Given the description of an element on the screen output the (x, y) to click on. 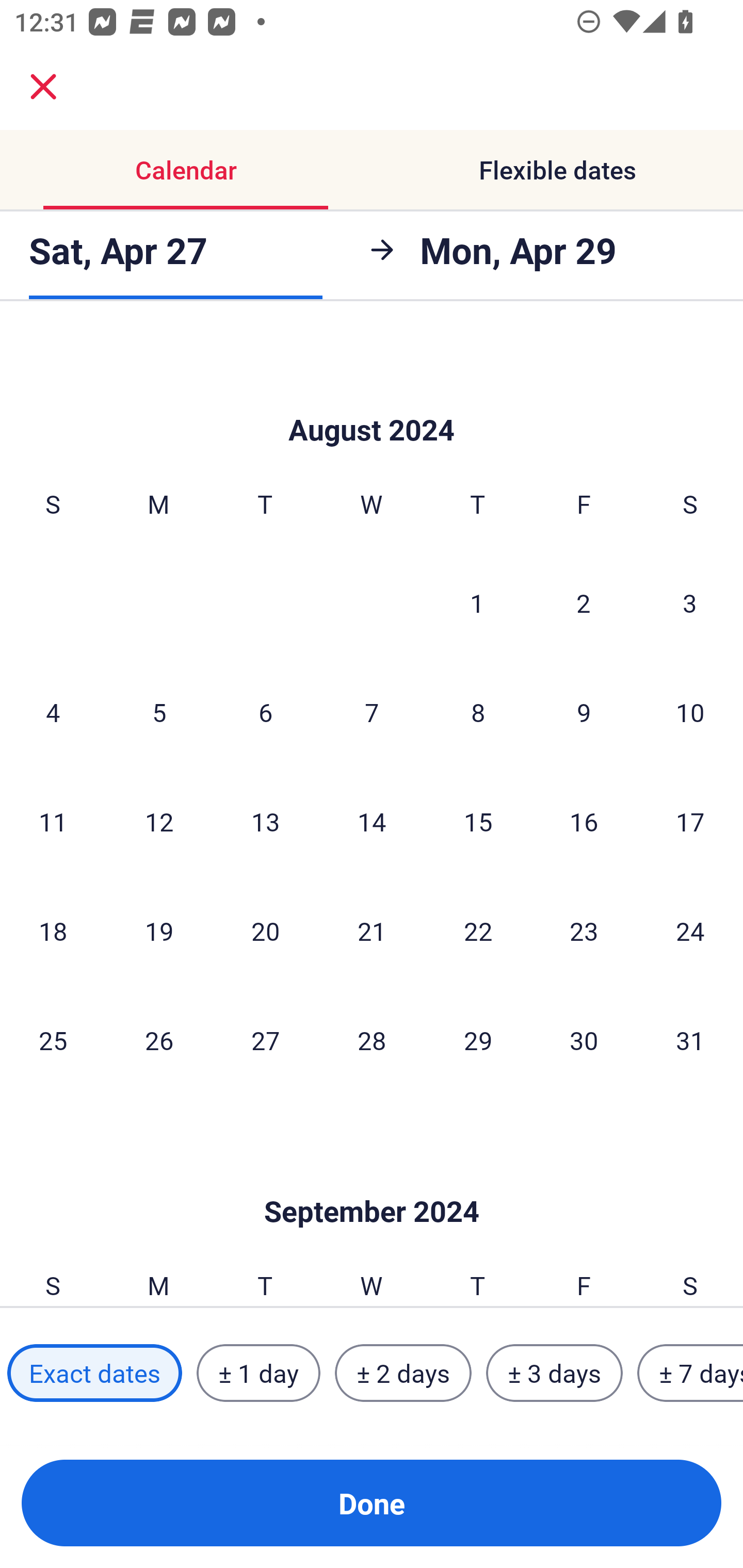
close. (43, 86)
Flexible dates (557, 170)
Skip to Done (371, 398)
1 Thursday, August 1, 2024 (477, 602)
2 Friday, August 2, 2024 (583, 602)
3 Saturday, August 3, 2024 (689, 602)
4 Sunday, August 4, 2024 (53, 711)
5 Monday, August 5, 2024 (159, 711)
6 Tuesday, August 6, 2024 (265, 711)
7 Wednesday, August 7, 2024 (371, 711)
8 Thursday, August 8, 2024 (477, 711)
9 Friday, August 9, 2024 (584, 711)
10 Saturday, August 10, 2024 (690, 711)
11 Sunday, August 11, 2024 (53, 821)
12 Monday, August 12, 2024 (159, 821)
13 Tuesday, August 13, 2024 (265, 821)
14 Wednesday, August 14, 2024 (371, 821)
15 Thursday, August 15, 2024 (477, 821)
16 Friday, August 16, 2024 (584, 821)
17 Saturday, August 17, 2024 (690, 821)
18 Sunday, August 18, 2024 (53, 930)
19 Monday, August 19, 2024 (159, 930)
20 Tuesday, August 20, 2024 (265, 930)
21 Wednesday, August 21, 2024 (371, 930)
22 Thursday, August 22, 2024 (477, 930)
23 Friday, August 23, 2024 (584, 930)
24 Saturday, August 24, 2024 (690, 930)
25 Sunday, August 25, 2024 (53, 1039)
26 Monday, August 26, 2024 (159, 1039)
27 Tuesday, August 27, 2024 (265, 1039)
28 Wednesday, August 28, 2024 (371, 1039)
29 Thursday, August 29, 2024 (477, 1039)
30 Friday, August 30, 2024 (584, 1039)
31 Saturday, August 31, 2024 (690, 1039)
Skip to Done (371, 1180)
Exact dates (94, 1372)
± 1 day (258, 1372)
± 2 days (403, 1372)
± 3 days (553, 1372)
± 7 days (690, 1372)
Done (371, 1502)
